Given the description of an element on the screen output the (x, y) to click on. 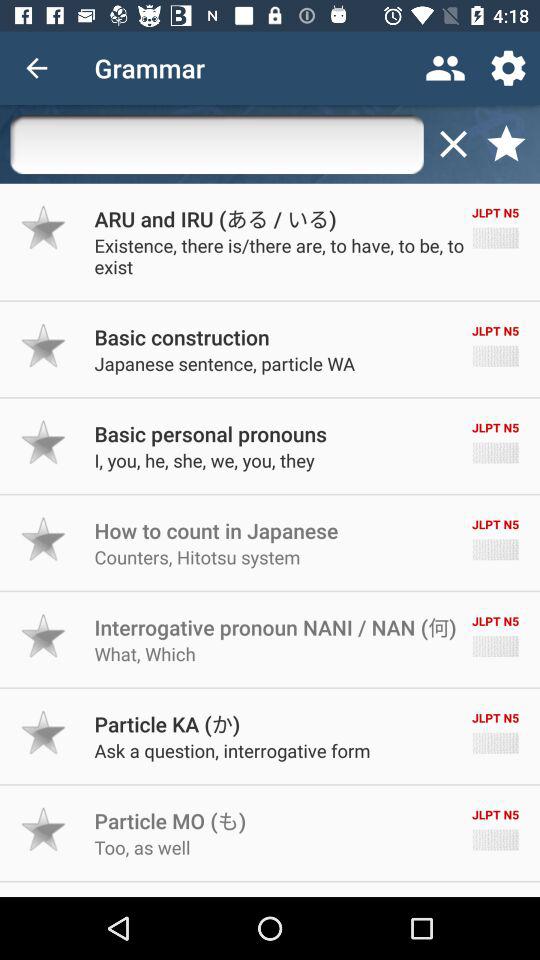
stop search (453, 144)
